Given the description of an element on the screen output the (x, y) to click on. 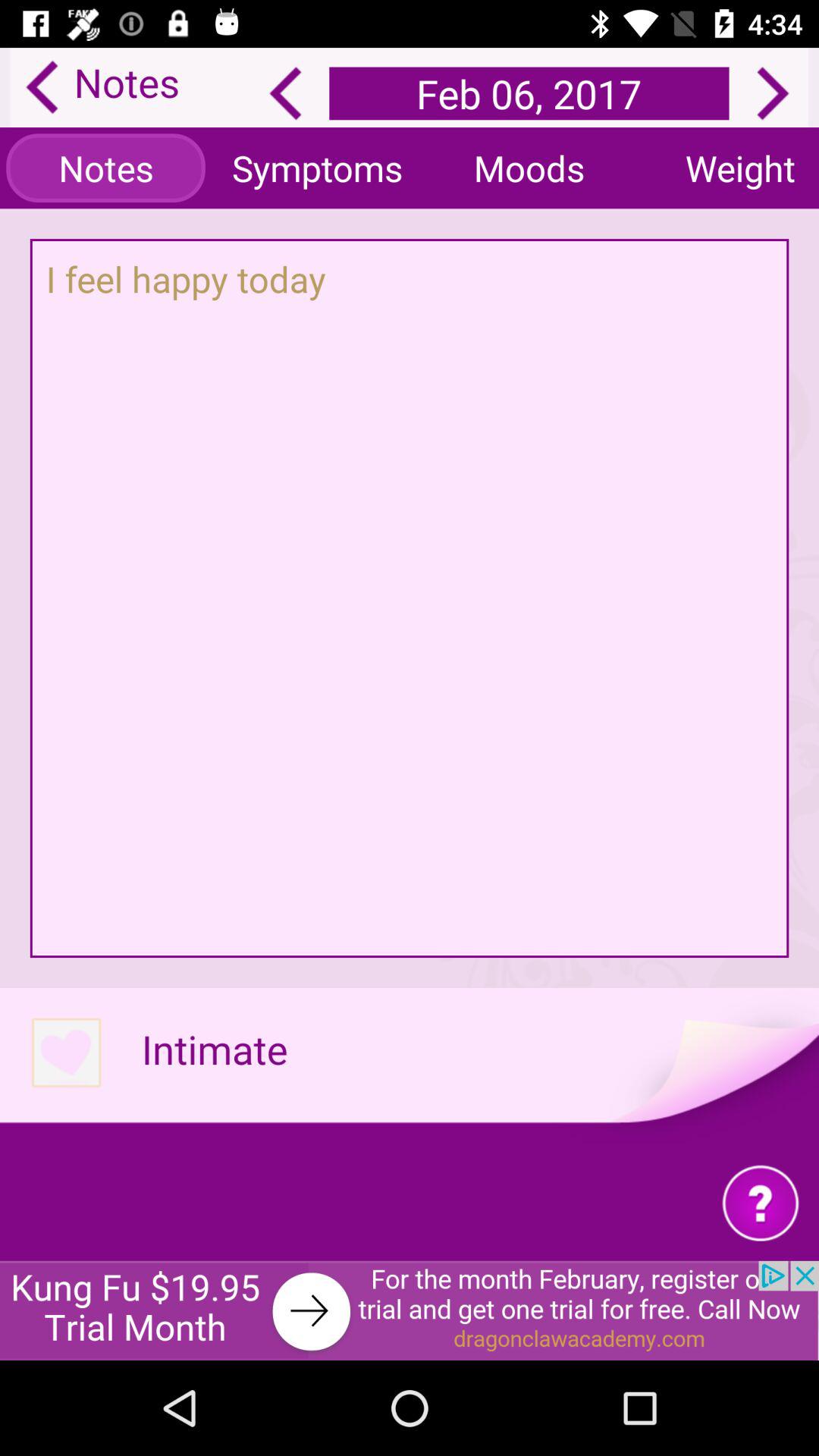
next page (772, 93)
